Given the description of an element on the screen output the (x, y) to click on. 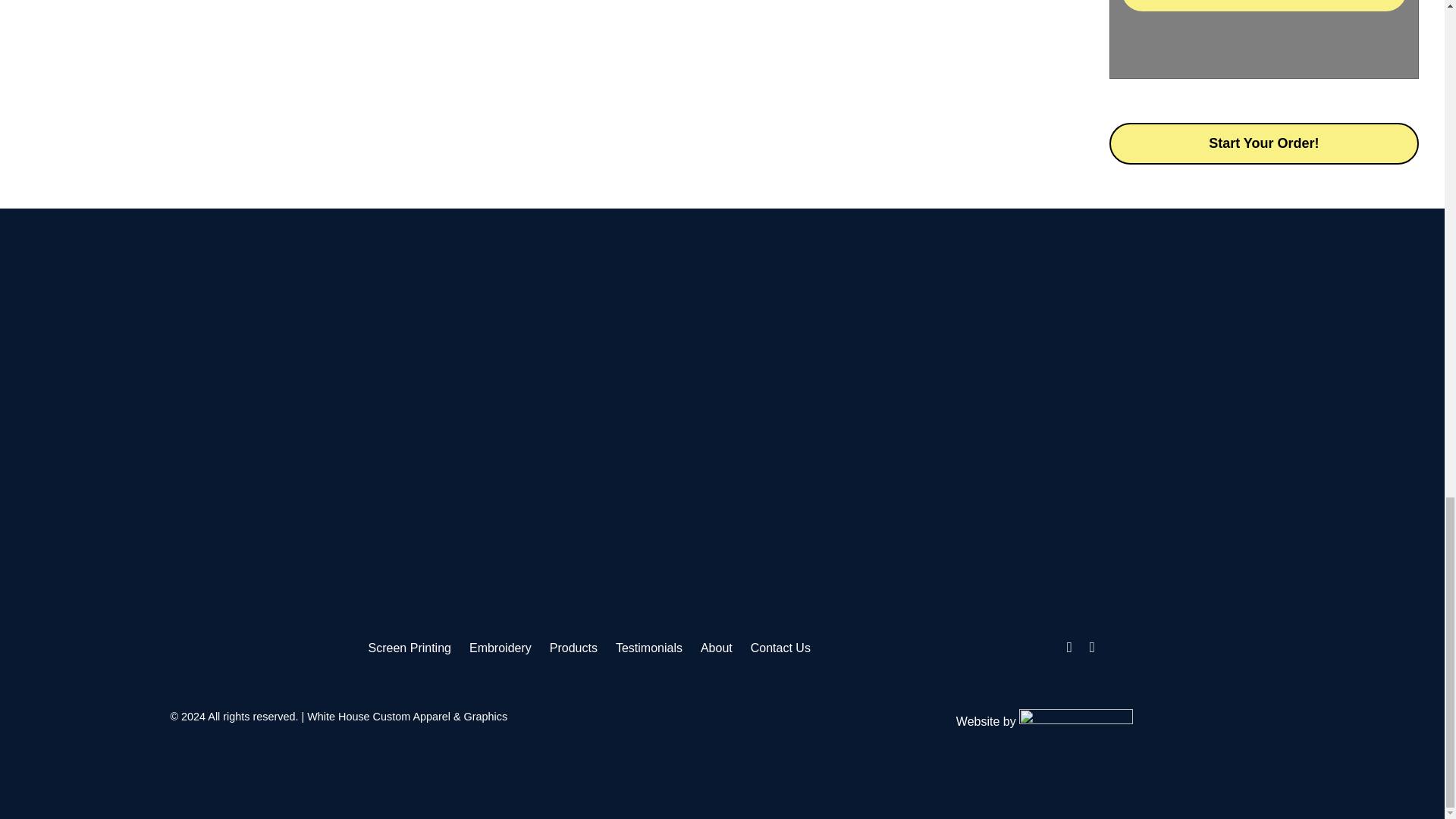
Start Your Order! (1263, 143)
Learn More (1263, 5)
Contact Us (780, 647)
Screen Printing (409, 647)
About (716, 647)
Embroidery (499, 647)
Contact Us (780, 647)
Screen Printing (409, 647)
Products (573, 647)
Embroidery (499, 647)
